Given the description of an element on the screen output the (x, y) to click on. 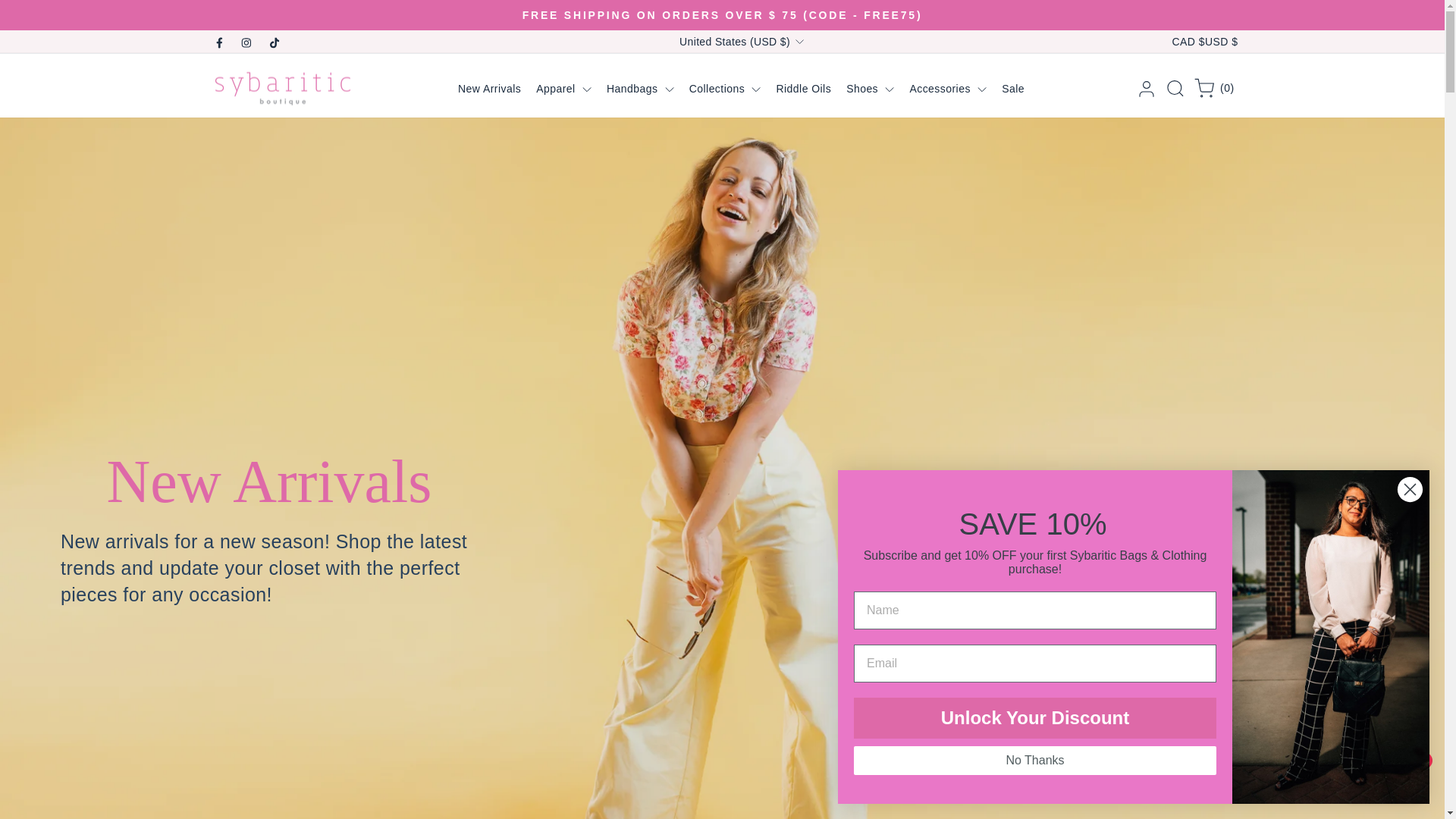
Shopify online store chat (1383, 781)
